Given the description of an element on the screen output the (x, y) to click on. 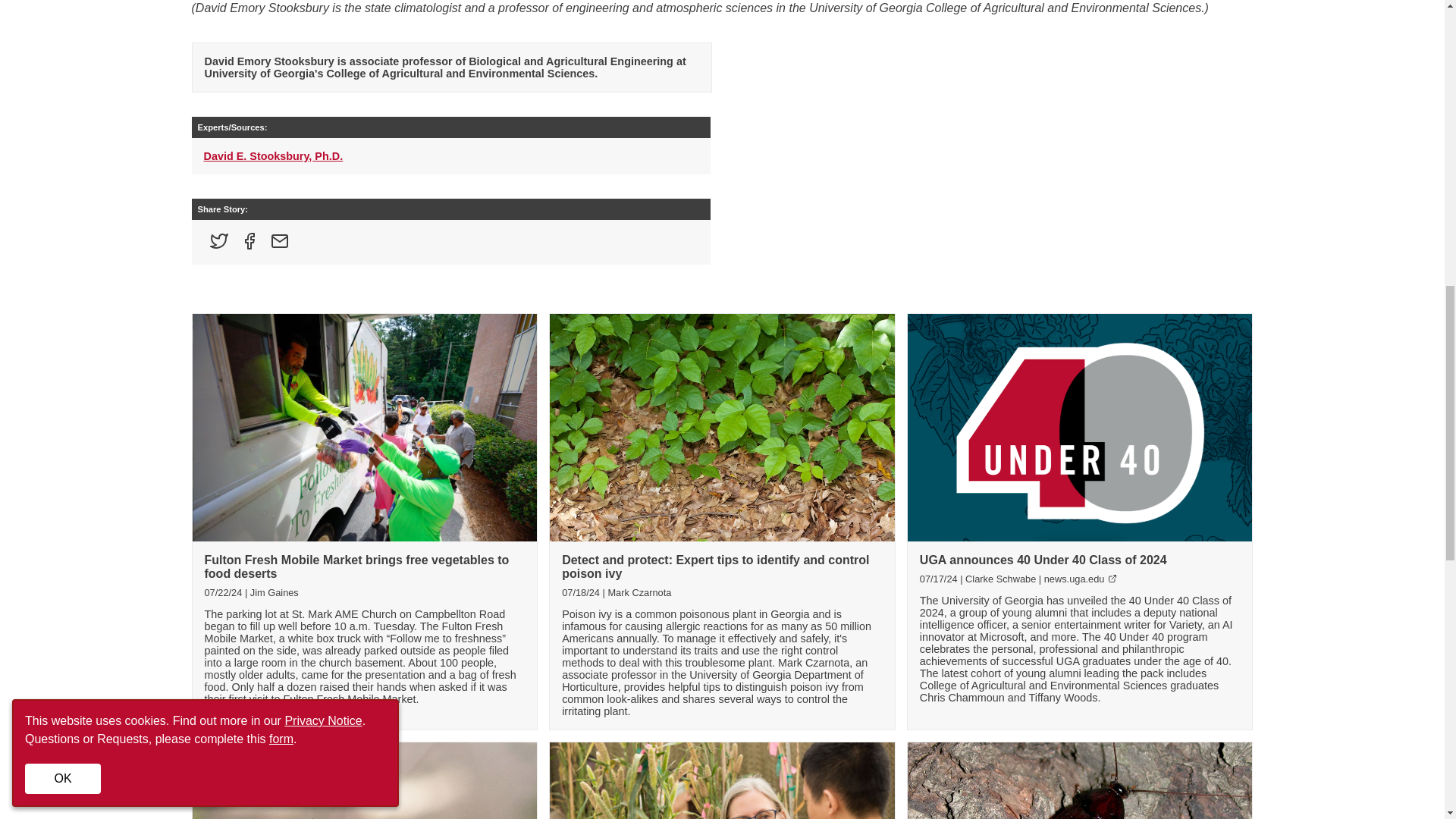
David E. Stooksbury, Ph.D. (272, 155)
UGA announces 40 Under 40 Class of 2024 (1043, 559)
